Given the description of an element on the screen output the (x, y) to click on. 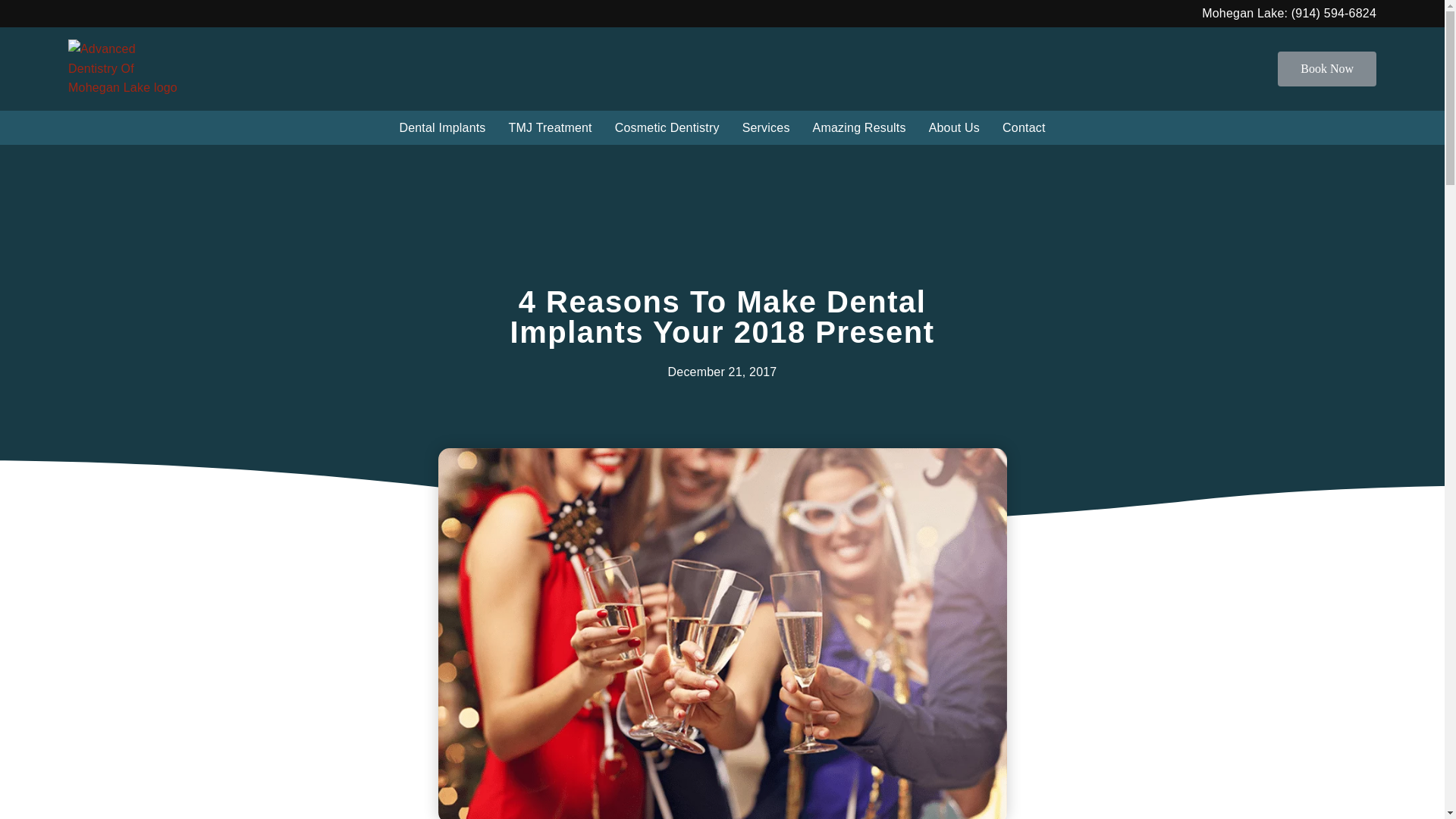
Amazing Results (859, 127)
Cosmetic Dentistry (667, 127)
TMJ Treatment (550, 127)
Dental Implants (441, 127)
Book Now (1326, 68)
About Us (954, 127)
Services (766, 127)
